Given the description of an element on the screen output the (x, y) to click on. 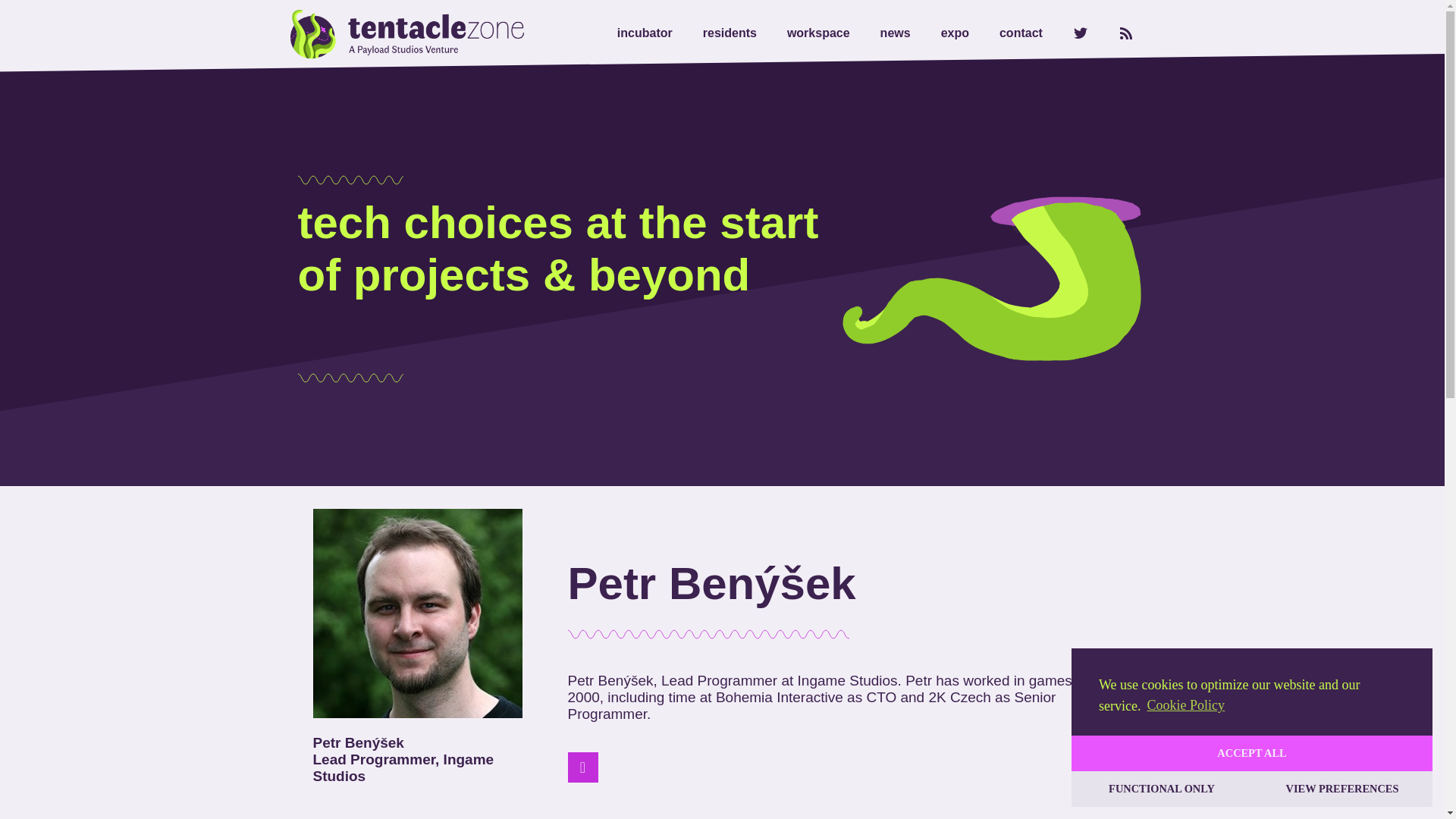
incubator (644, 33)
Cookie Policy (1184, 705)
VIEW PREFERENCES (1342, 788)
ACCEPT ALL (1251, 753)
FUNCTIONAL ONLY (1161, 788)
